Given the description of an element on the screen output the (x, y) to click on. 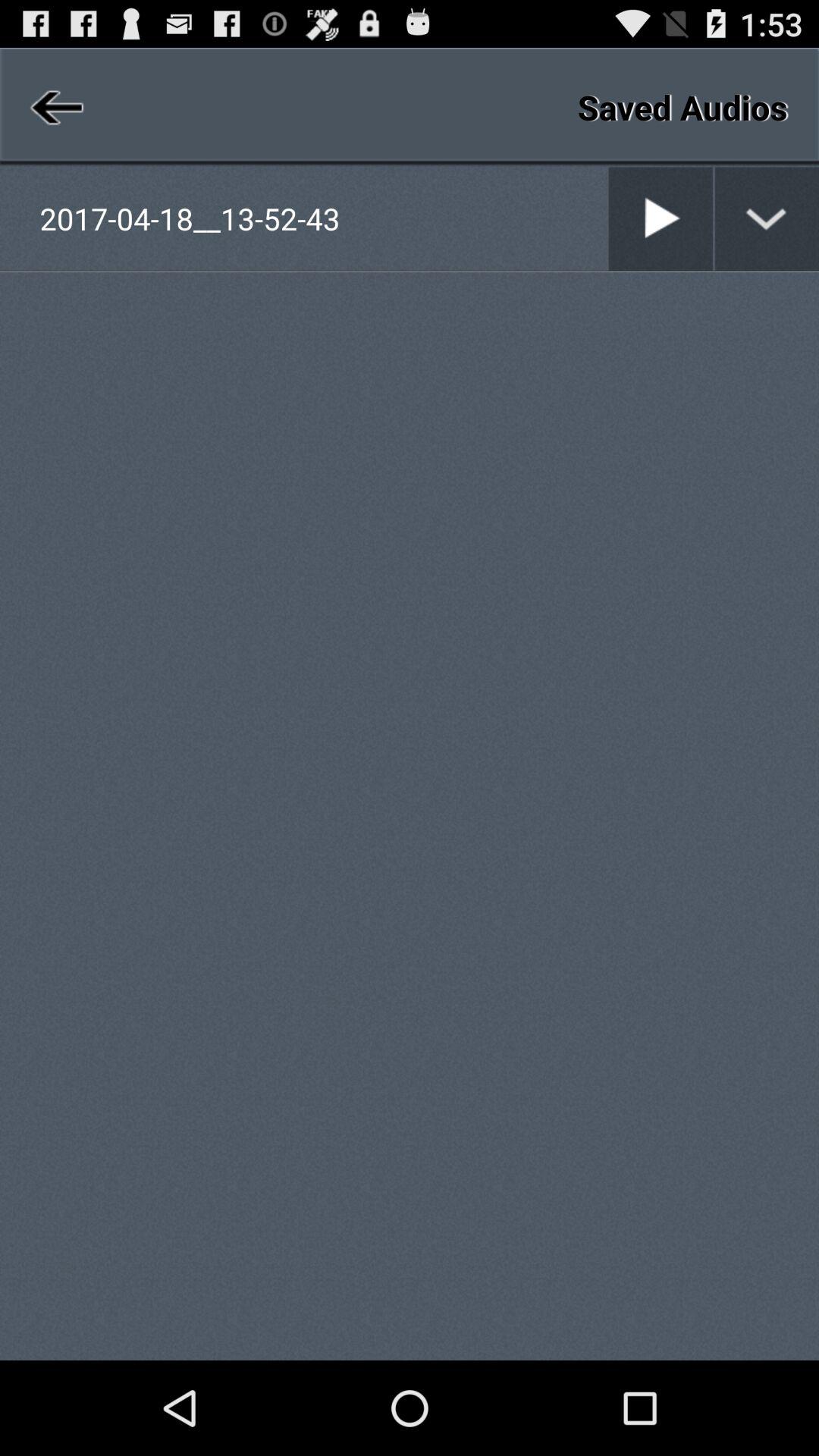
press the 2017 04 18__13 at the top (322, 218)
